Given the description of an element on the screen output the (x, y) to click on. 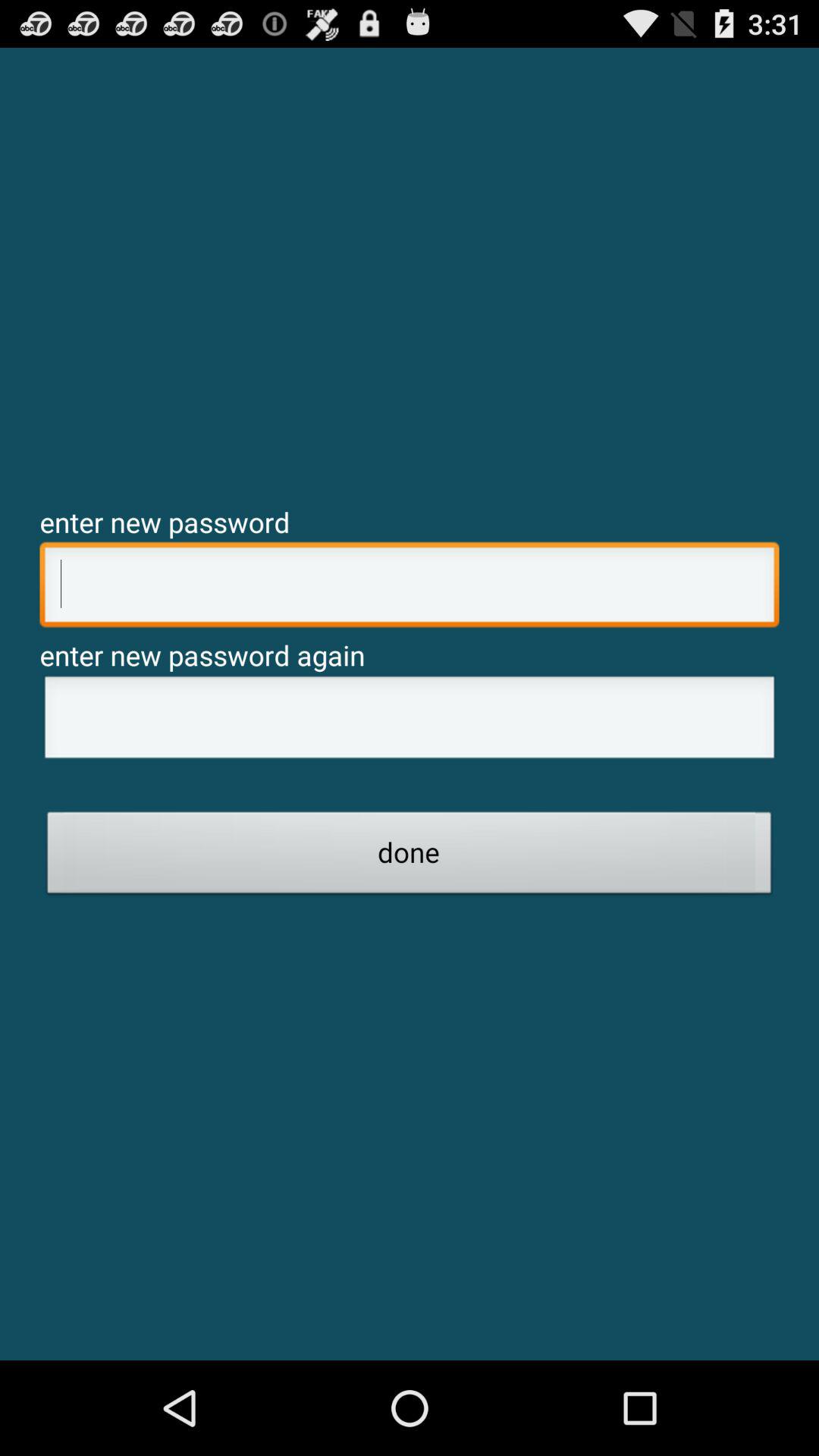
open done (409, 856)
